Given the description of an element on the screen output the (x, y) to click on. 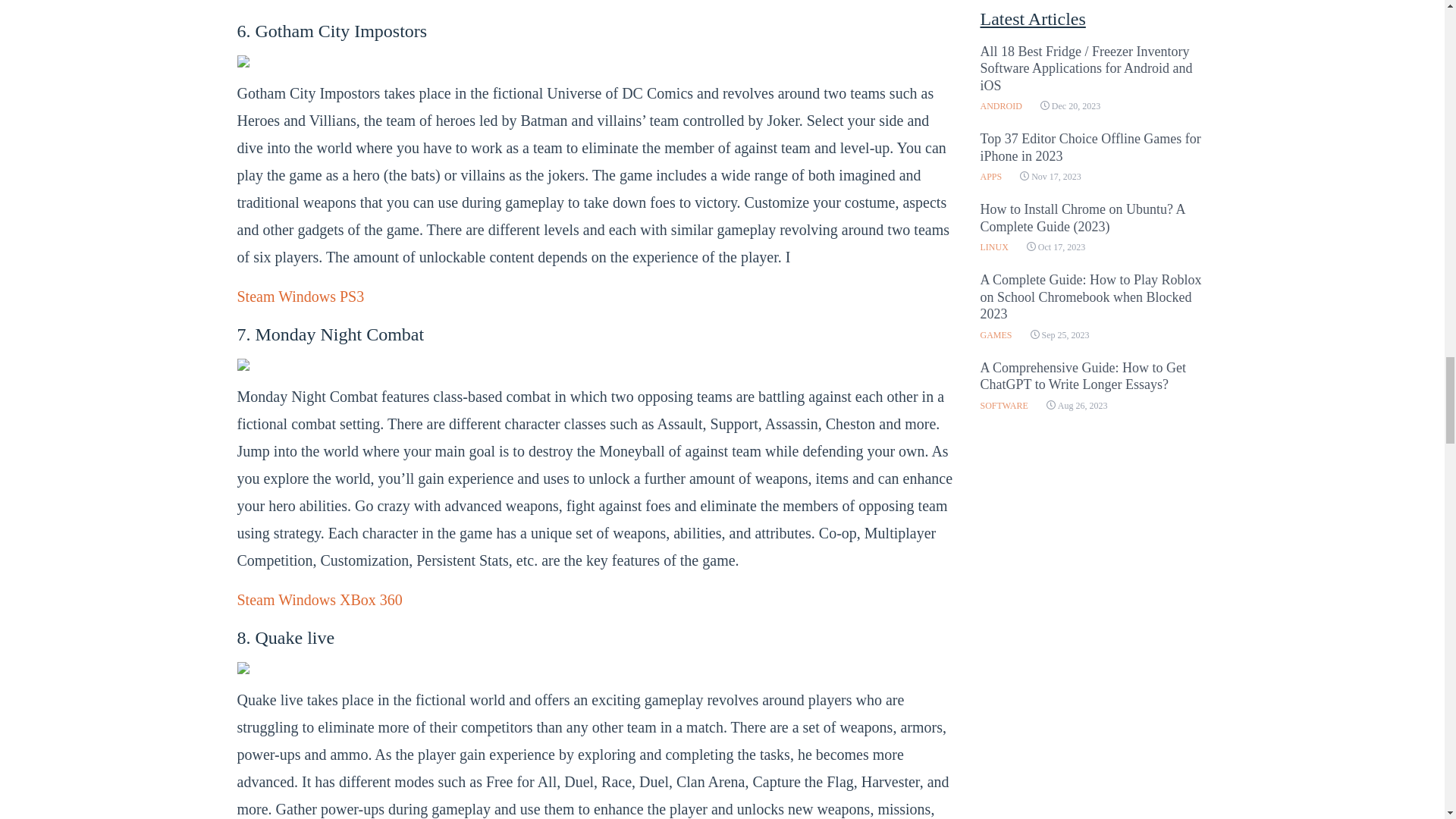
PS3 (351, 296)
Windows (307, 0)
Windows (307, 599)
Steam (255, 0)
Steam (255, 296)
Windows (307, 296)
Steam (255, 599)
XBox 360 (371, 599)
Mac (352, 0)
